Given the description of an element on the screen output the (x, y) to click on. 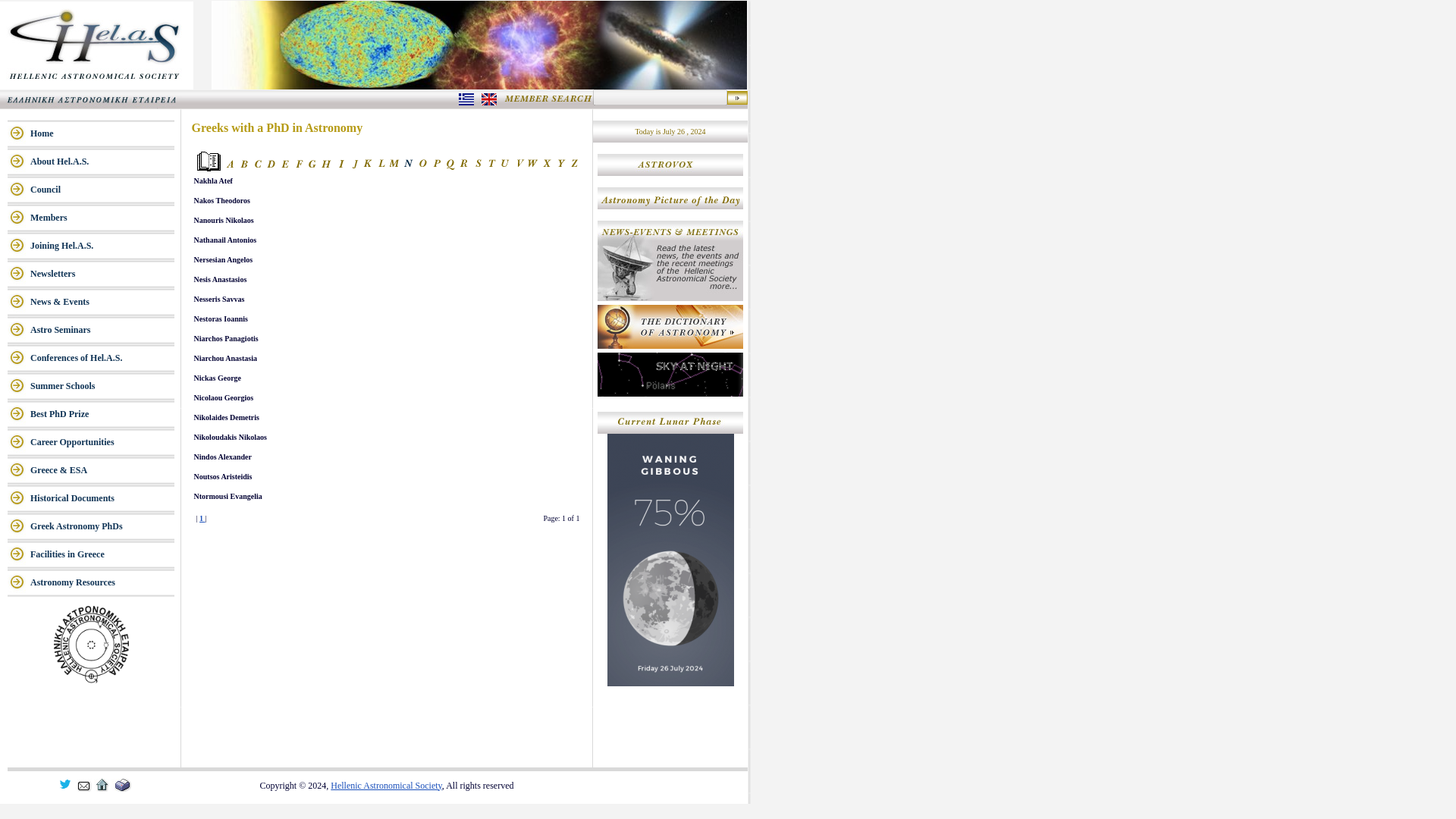
About Hel.A.S. (101, 162)
Facilities in Greece (101, 554)
Home (101, 133)
Members (101, 217)
Newsletters (101, 274)
Historical Documents (101, 498)
Conferences of Hel.A.S. (101, 357)
Astro Seminars (101, 329)
Council (101, 189)
Joining Hel.A.S. (101, 245)
Best PhD Prize (101, 414)
Greek Astronomy PhDs (101, 526)
Summer Schools (101, 386)
Astronomy Resources (101, 582)
Career Opportunities (101, 442)
